Given the description of an element on the screen output the (x, y) to click on. 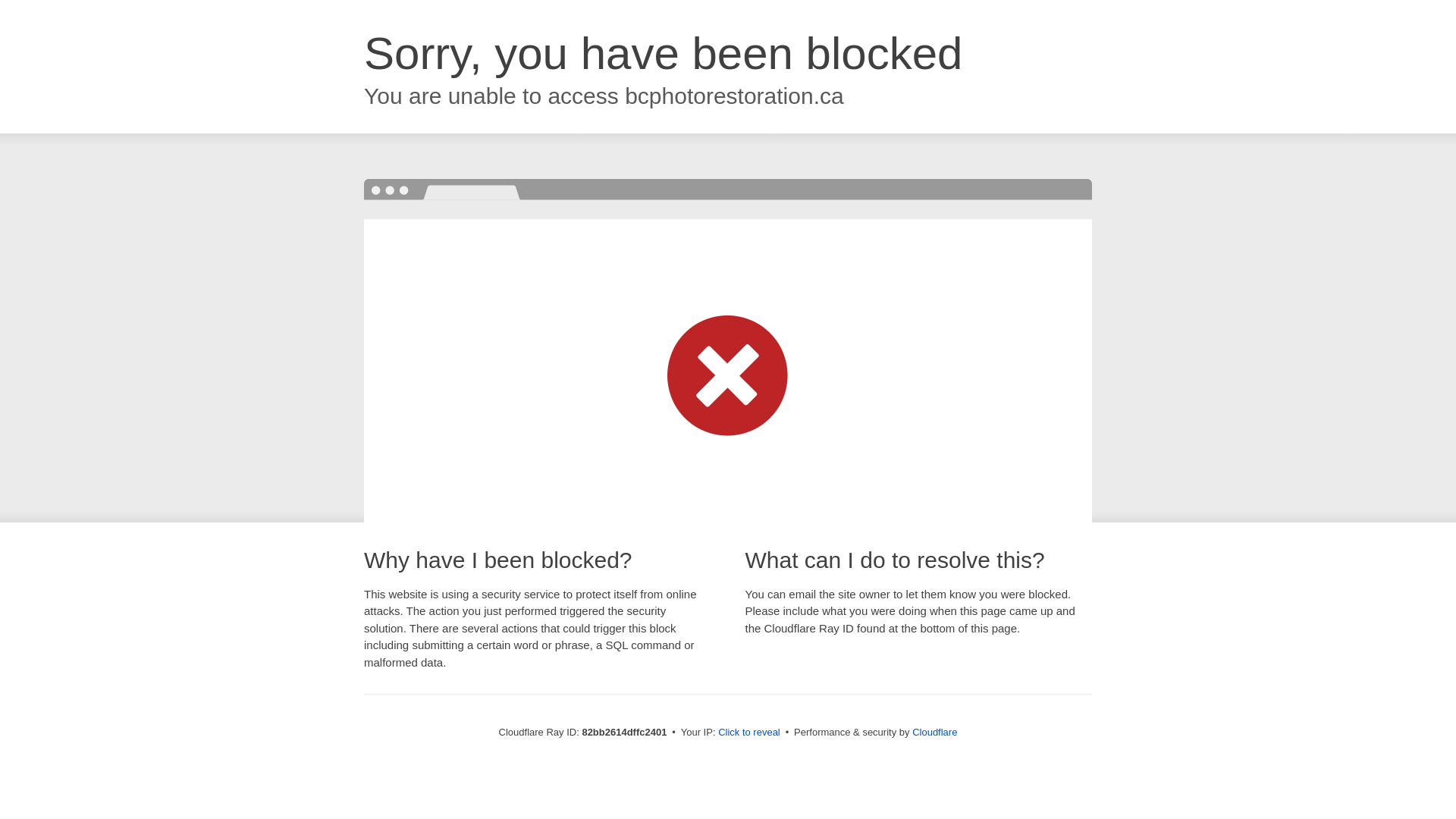
Click to reveal Element type: text (749, 732)
Cloudflare Element type: text (934, 731)
